Given the description of an element on the screen output the (x, y) to click on. 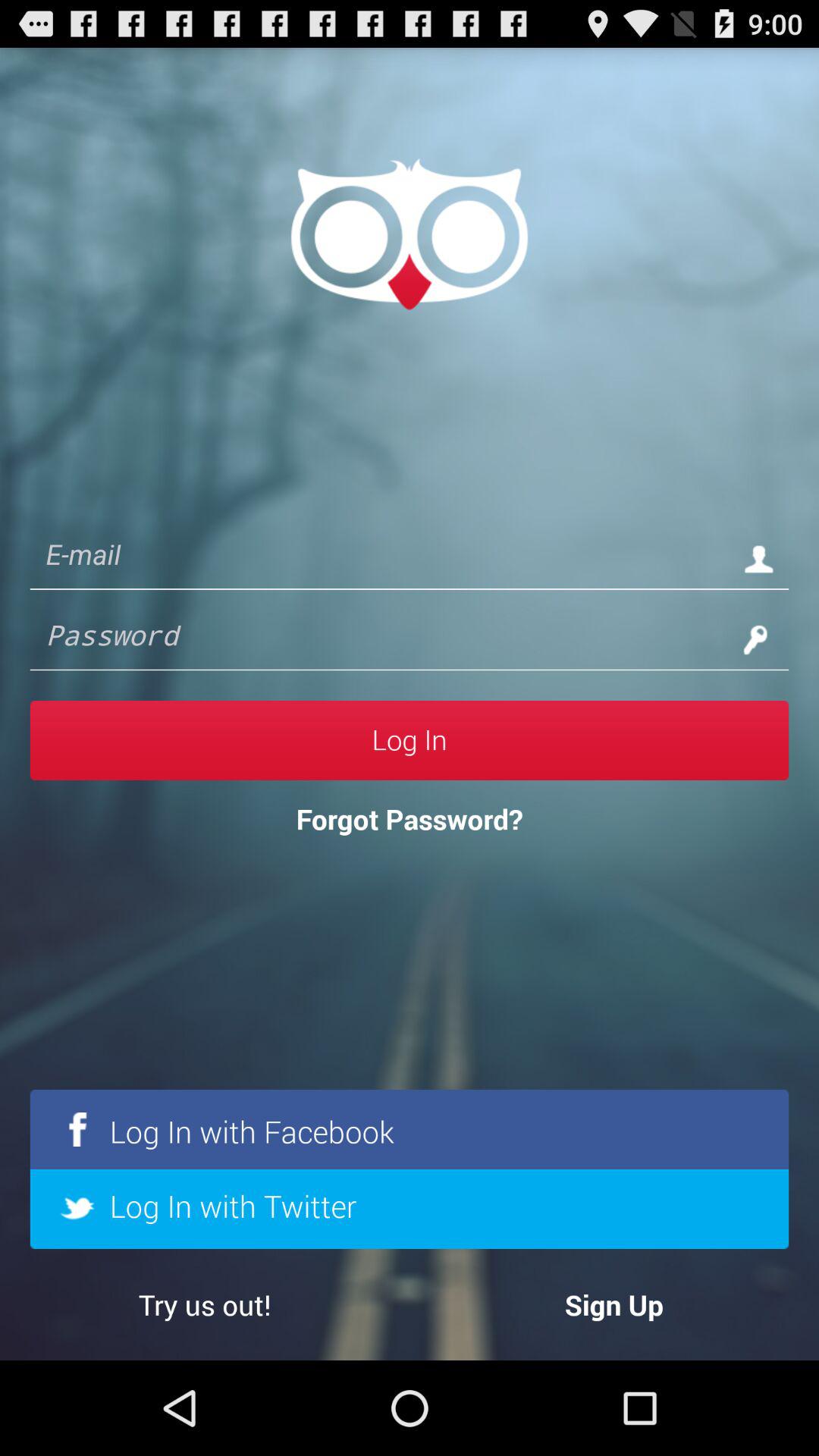
enter your e-mail address (379, 558)
